Given the description of an element on the screen output the (x, y) to click on. 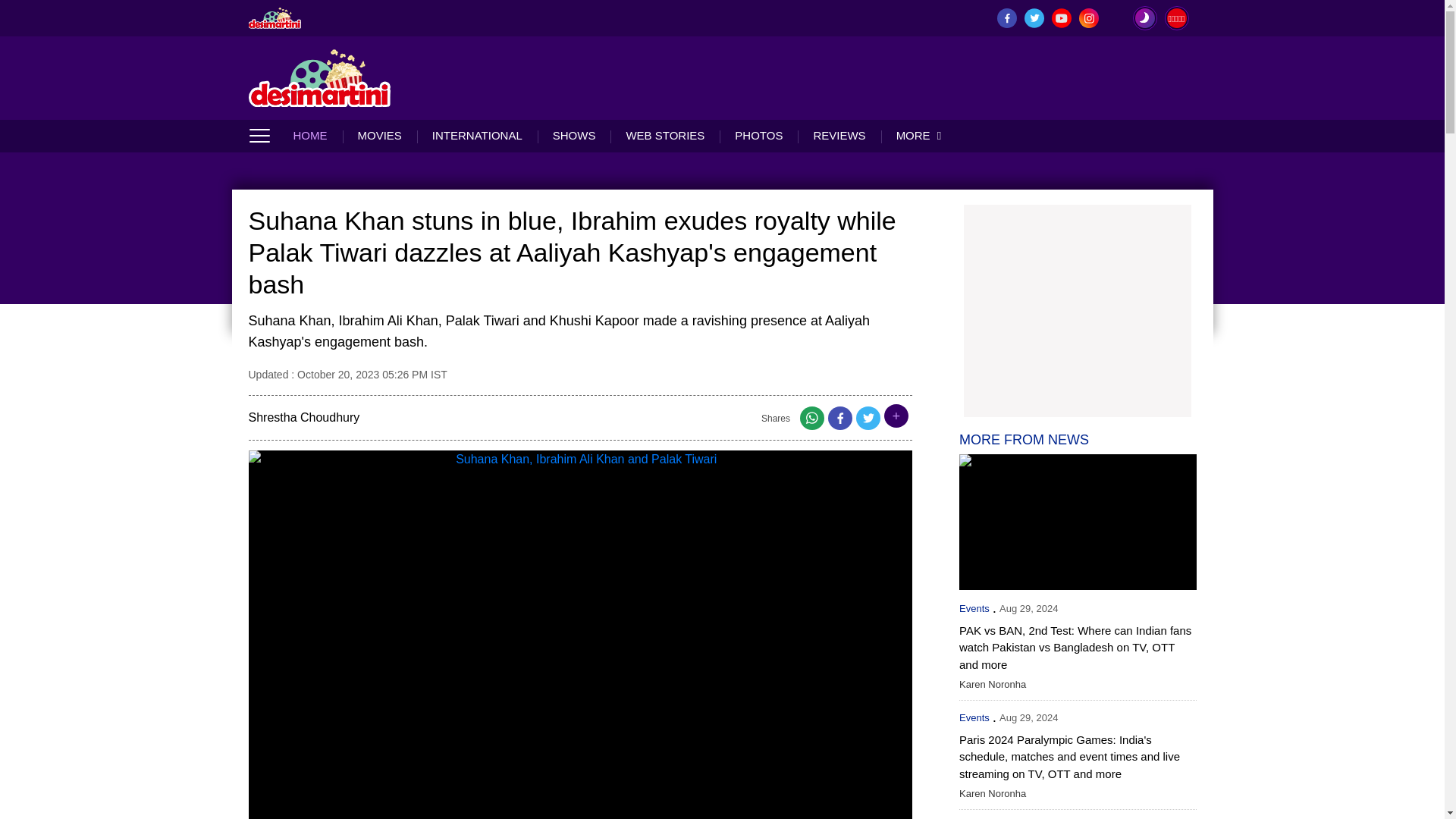
Facebook (839, 421)
desimartini (274, 17)
desimartini (319, 77)
PHOTOS (758, 135)
WEB STORIES (664, 135)
REVIEWS (838, 135)
MOVIES (379, 135)
HOME (317, 135)
SHOWS (574, 135)
